Given the description of an element on the screen output the (x, y) to click on. 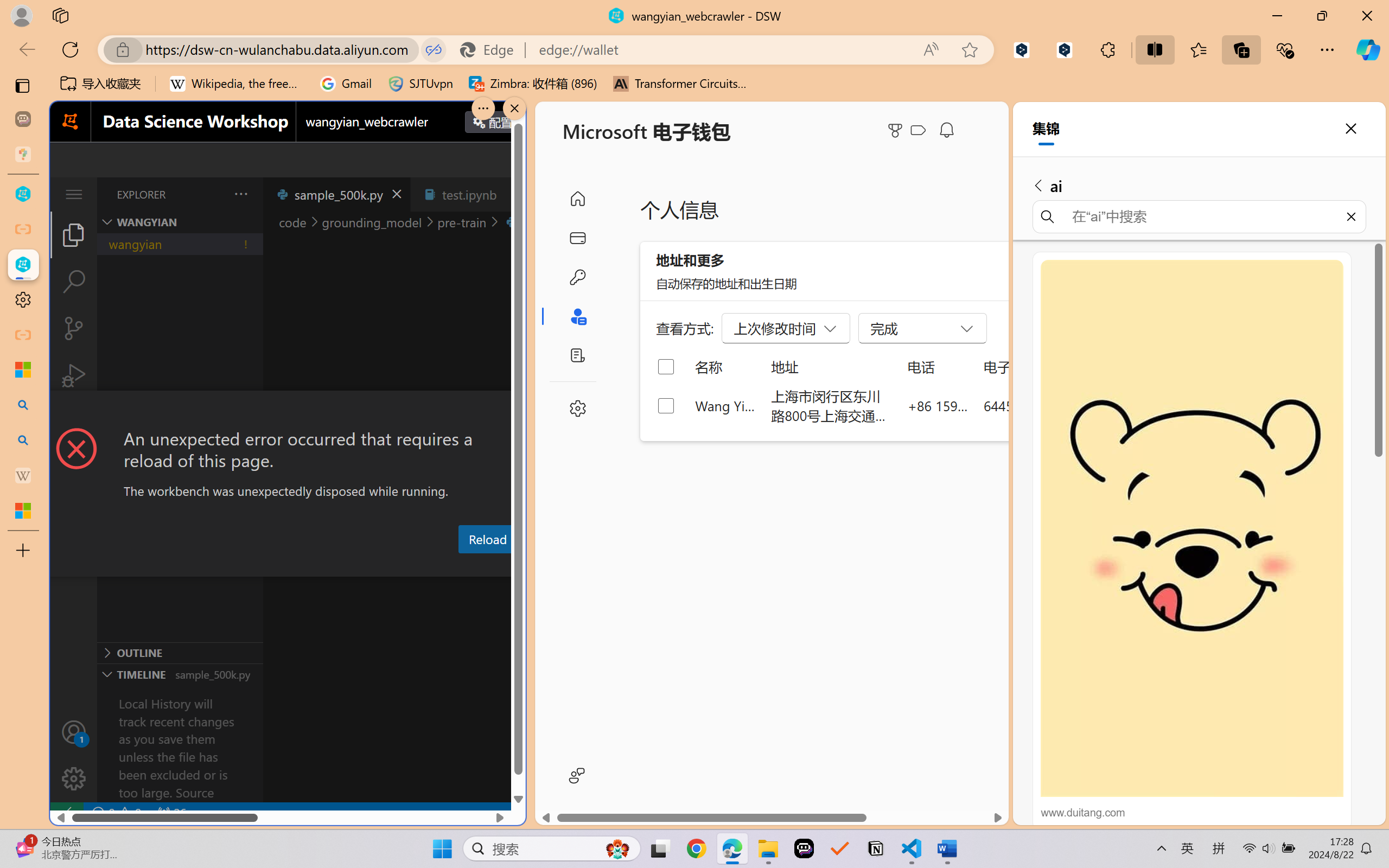
Wikipedia, the free encyclopedia (236, 83)
wangyian_dsw - DSW (22, 194)
Tab actions (512, 194)
Run and Debug (Ctrl+Shift+D) (73, 375)
Accounts - Sign in requested (73, 732)
